Given the description of an element on the screen output the (x, y) to click on. 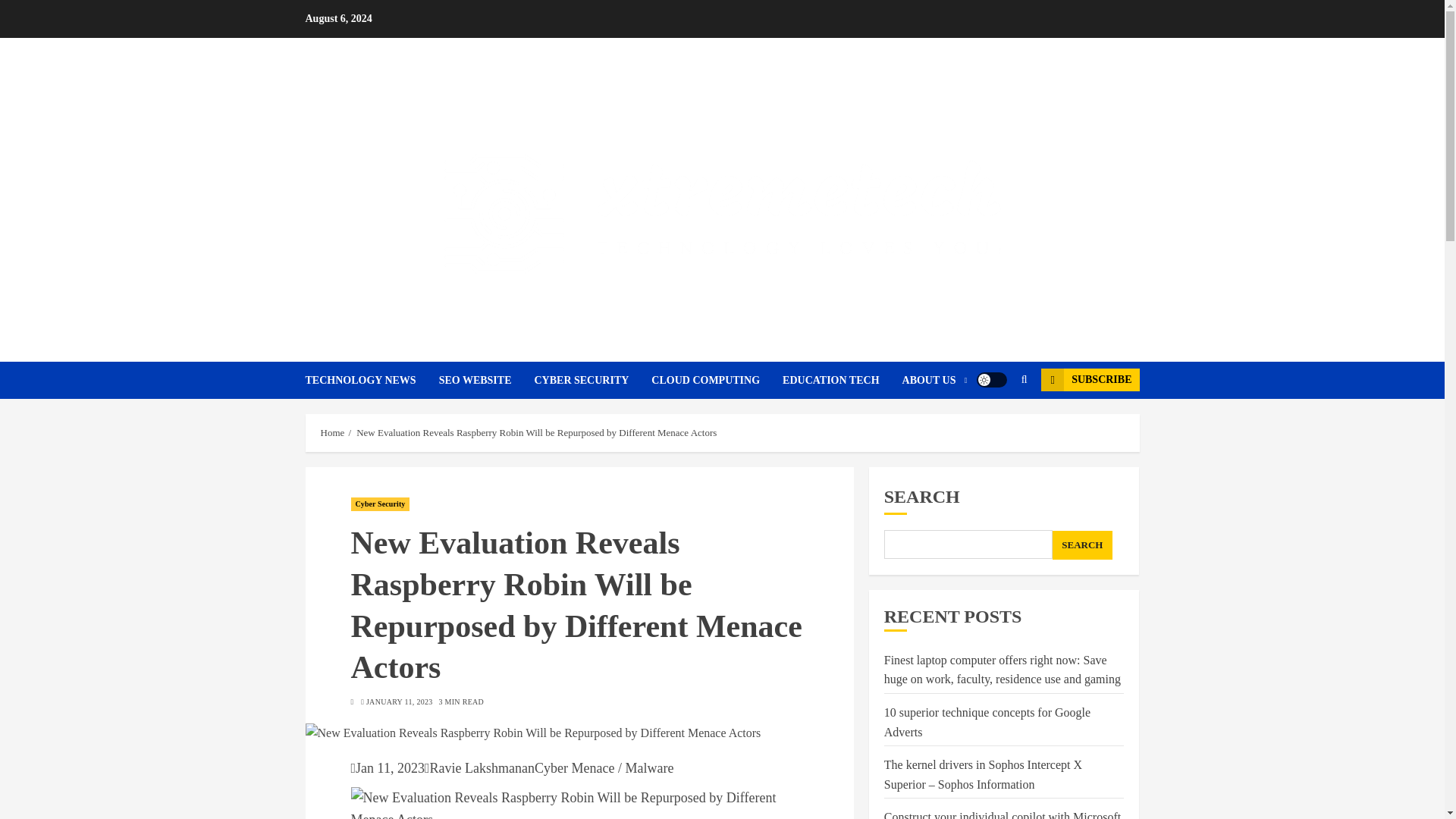
EDUCATION TECH (842, 379)
Search (994, 425)
SEO WEBSITE (486, 379)
CYBER SECURITY (592, 379)
ABOUT US (935, 379)
TECHNOLOGY NEWS (371, 379)
Cyber Security (379, 504)
JANUARY 11, 2023 (399, 701)
Home (331, 432)
CLOUD COMPUTING (716, 379)
SUBSCRIBE (1089, 379)
